Given the description of an element on the screen output the (x, y) to click on. 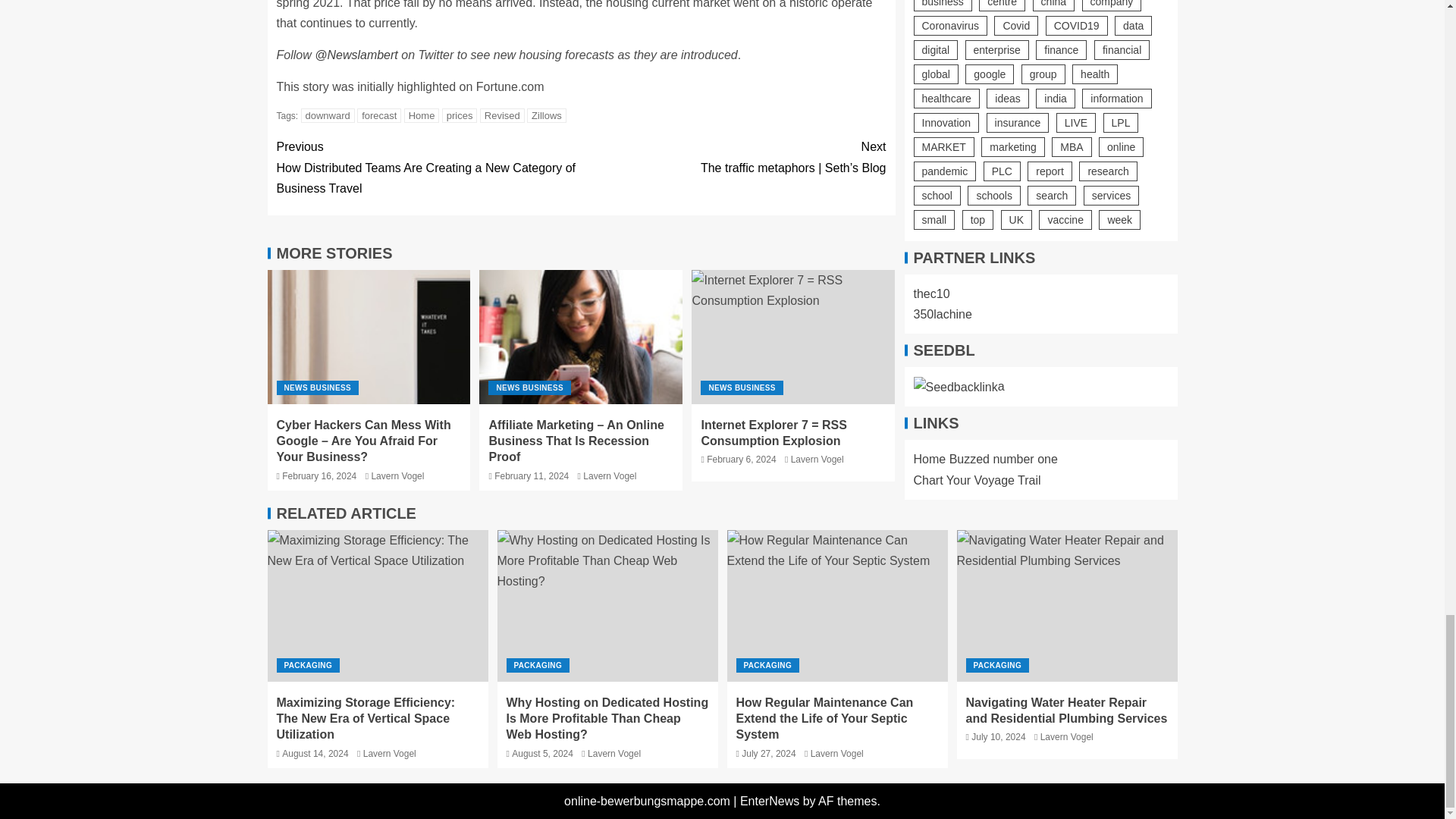
downward (328, 115)
Zillows (546, 115)
prices (459, 115)
NEWS BUSINESS (317, 387)
Revised (502, 115)
Lavern Vogel (397, 475)
NEWS BUSINESS (528, 387)
